Given the description of an element on the screen output the (x, y) to click on. 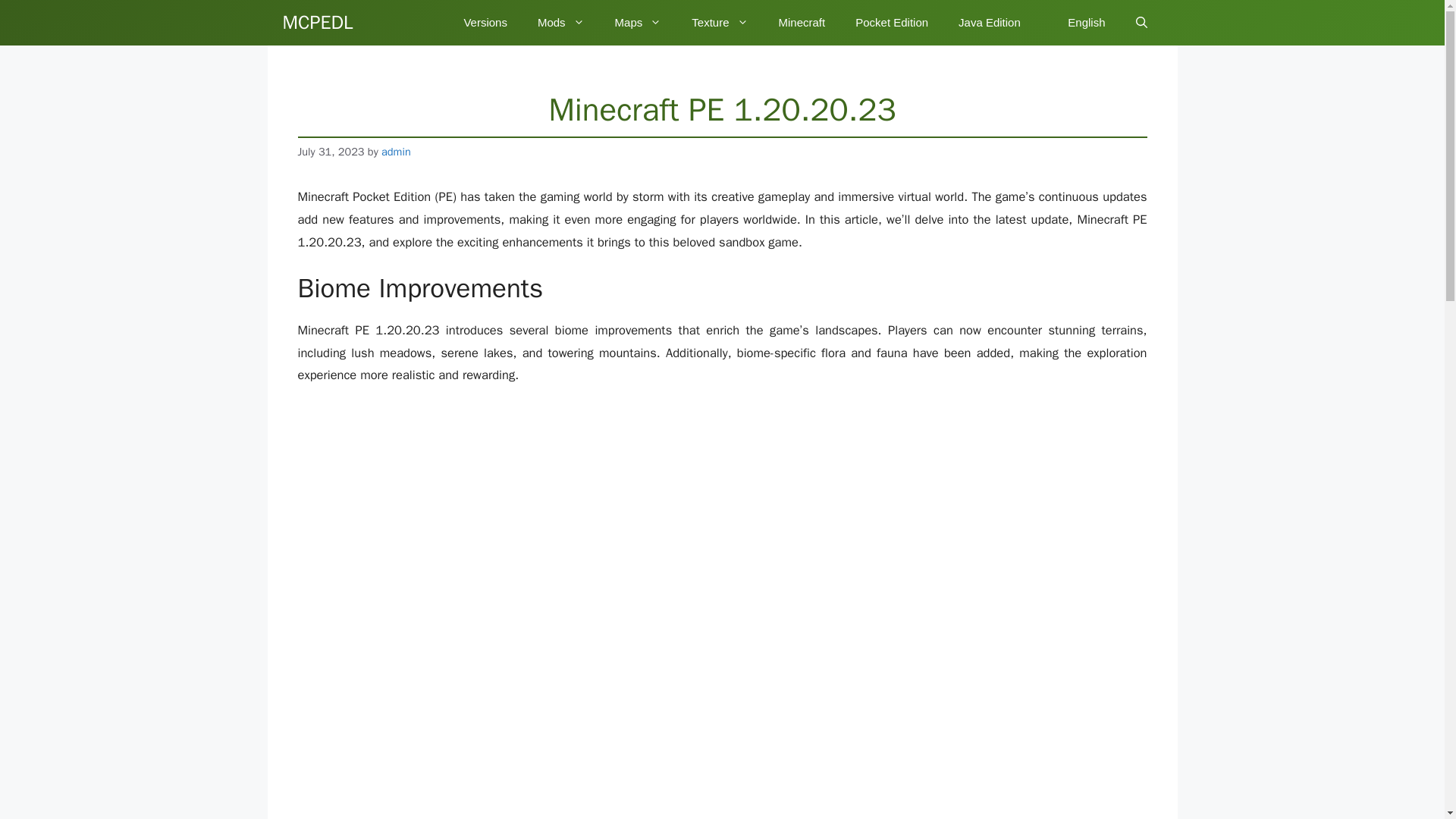
English (1078, 22)
MCPEDL (317, 22)
View all posts by admin (395, 151)
Versions (485, 22)
Mods (560, 22)
Maps (638, 22)
